Given the description of an element on the screen output the (x, y) to click on. 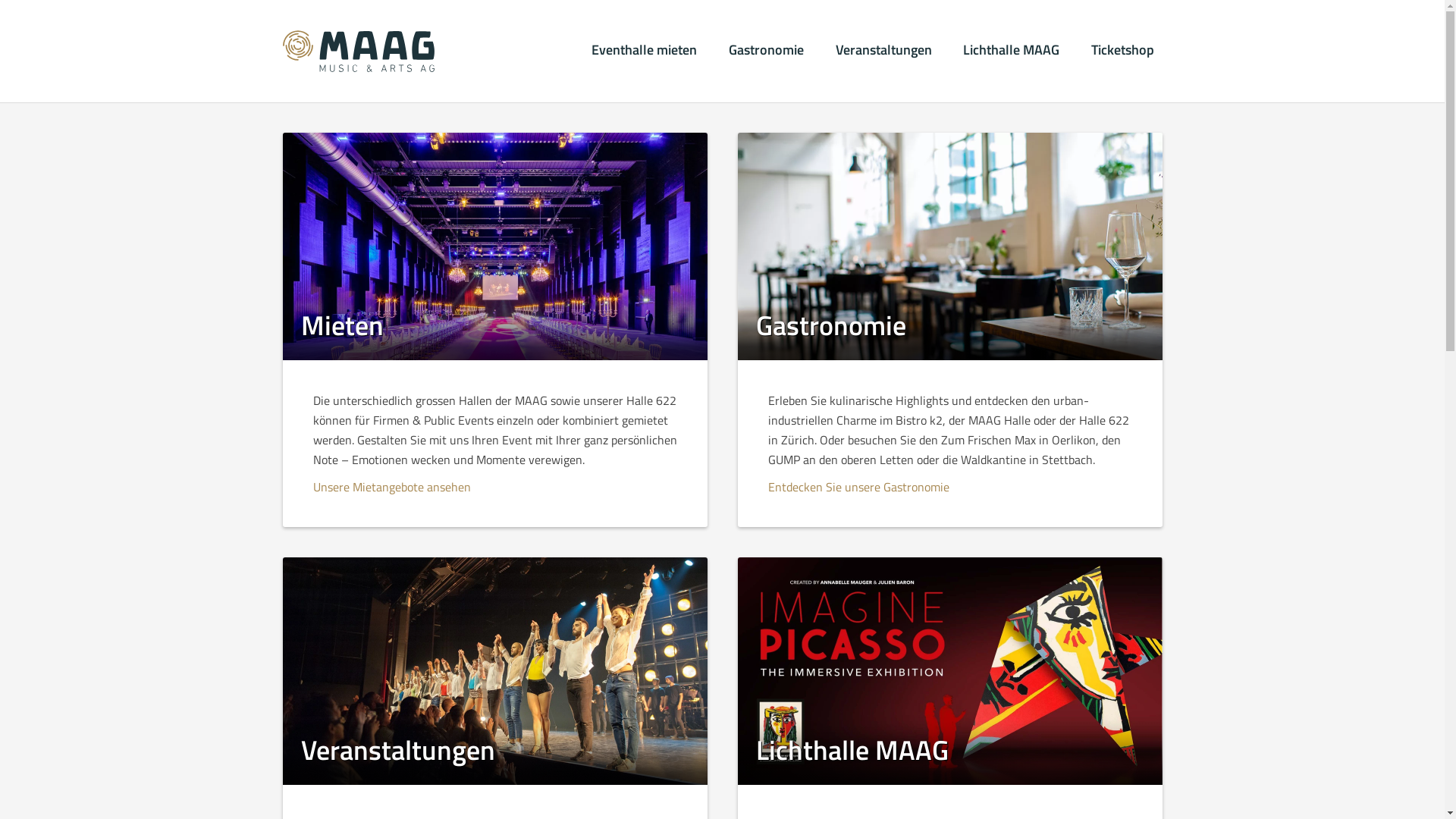
Lichthalle MAAG Element type: text (1010, 50)
Ticketshop Element type: text (1122, 50)
Gastronomie Element type: text (766, 50)
MAAG Music & Arts AG Element type: text (332, 147)
Eventhalle mieten Element type: text (644, 50)
Veranstaltungen Element type: text (883, 50)
